Given the description of an element on the screen output the (x, y) to click on. 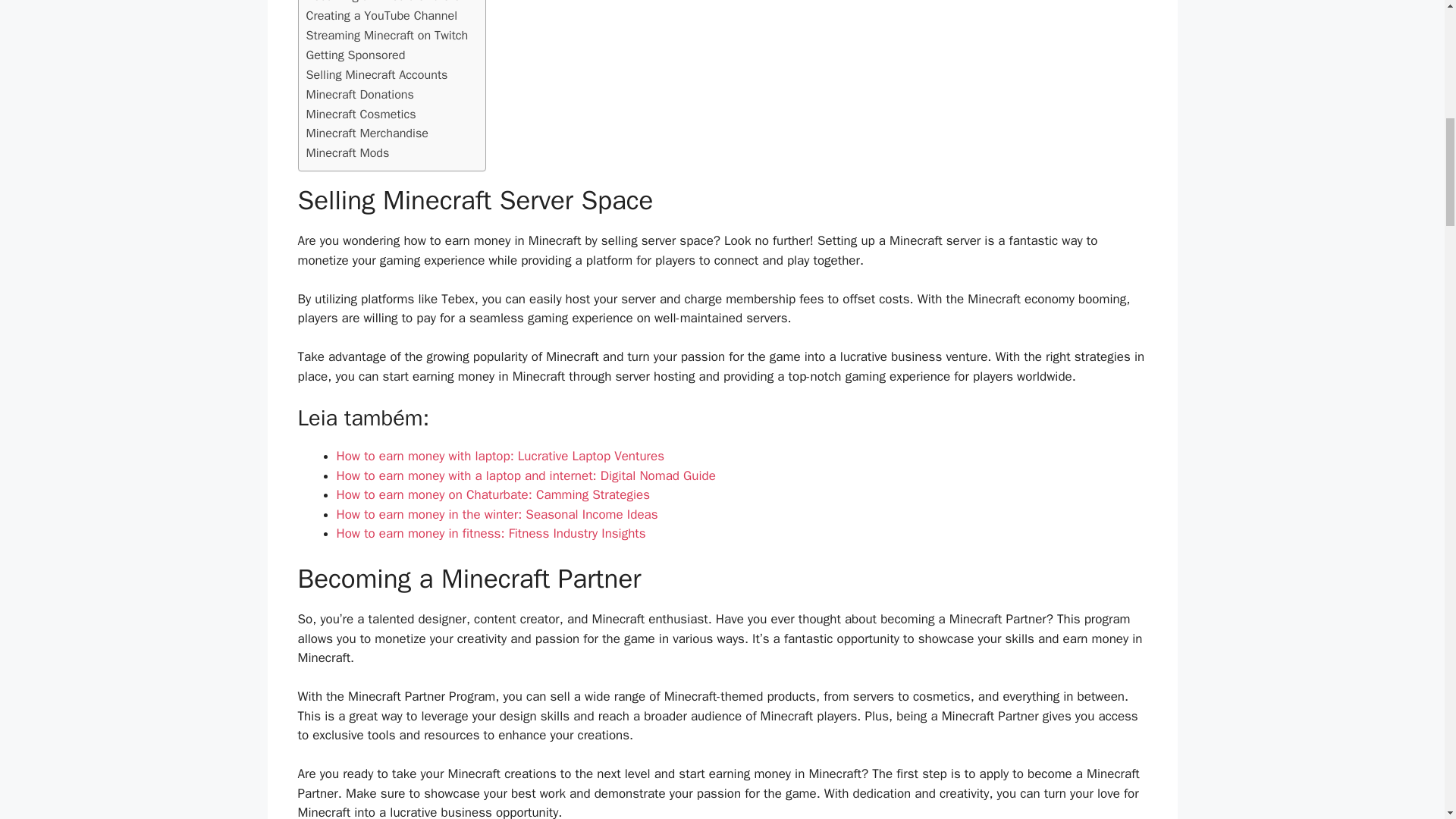
Becoming a Minecraft Partner (384, 2)
Getting Sponsored (355, 55)
Creating a YouTube Channel (381, 15)
Streaming Minecraft on Twitch (386, 35)
